Given the description of an element on the screen output the (x, y) to click on. 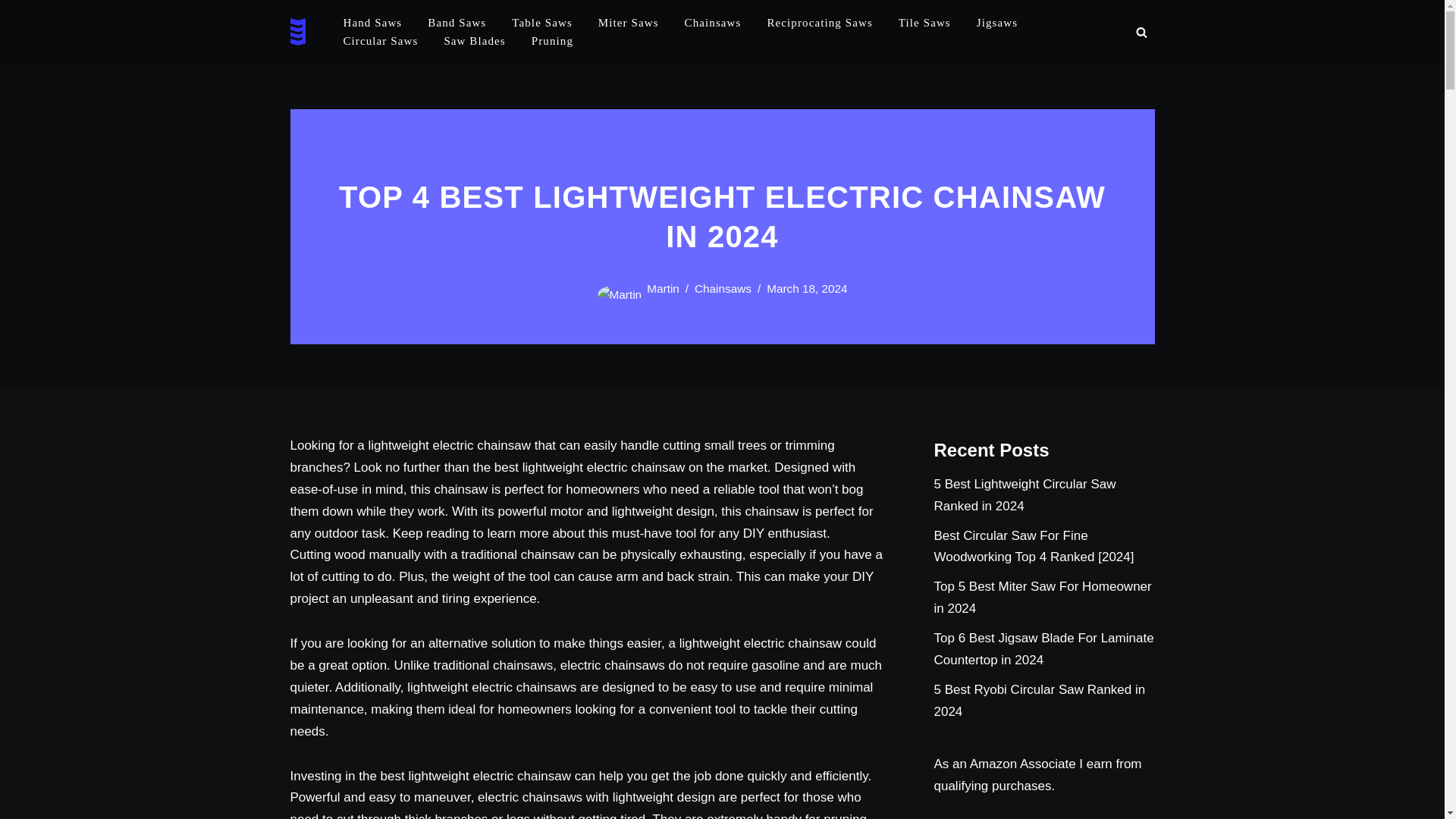
Chainsaws (722, 287)
Hand Saws (371, 22)
Reciprocating Saws (819, 22)
Jigsaws (996, 22)
Pruning (552, 40)
Tile Saws (924, 22)
5 Best Lightweight Circular Saw Ranked in 2024 (1025, 494)
Table Saws (542, 22)
Martin (662, 287)
Skip to content (11, 31)
Chainsaws (712, 22)
Circular Saws (379, 40)
Posts by Martin (662, 287)
Saw Blades (474, 40)
Miter Saws (628, 22)
